Given the description of an element on the screen output the (x, y) to click on. 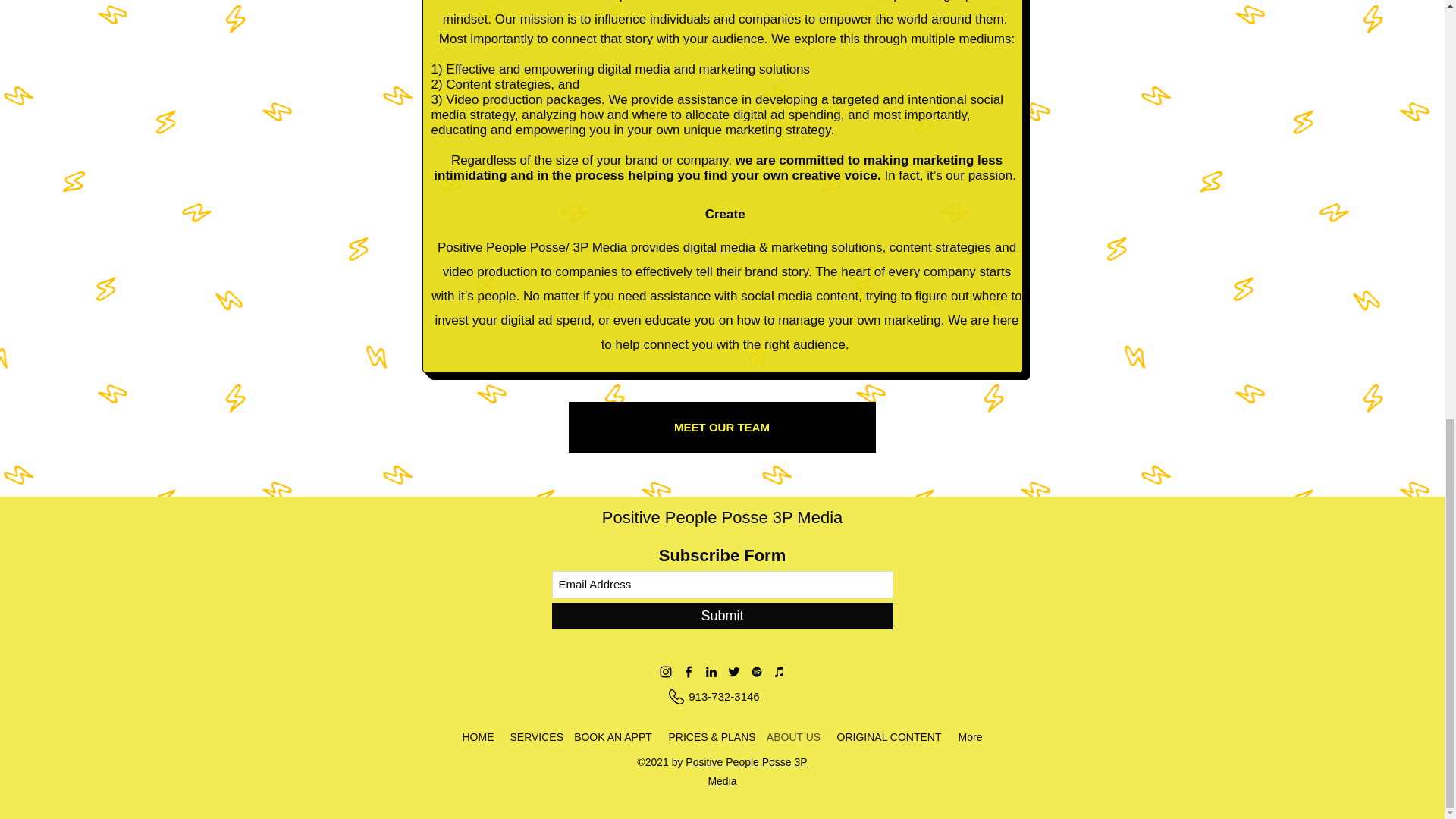
ORIGINAL CONTENT (888, 736)
ABOUT US (793, 736)
BOOK AN APPT (613, 736)
MEET OUR TEAM (722, 427)
Positive People Posse 3P Media (722, 517)
SERVICES (533, 736)
HOME (477, 736)
digital media (718, 247)
Submit (722, 615)
